Given the description of an element on the screen output the (x, y) to click on. 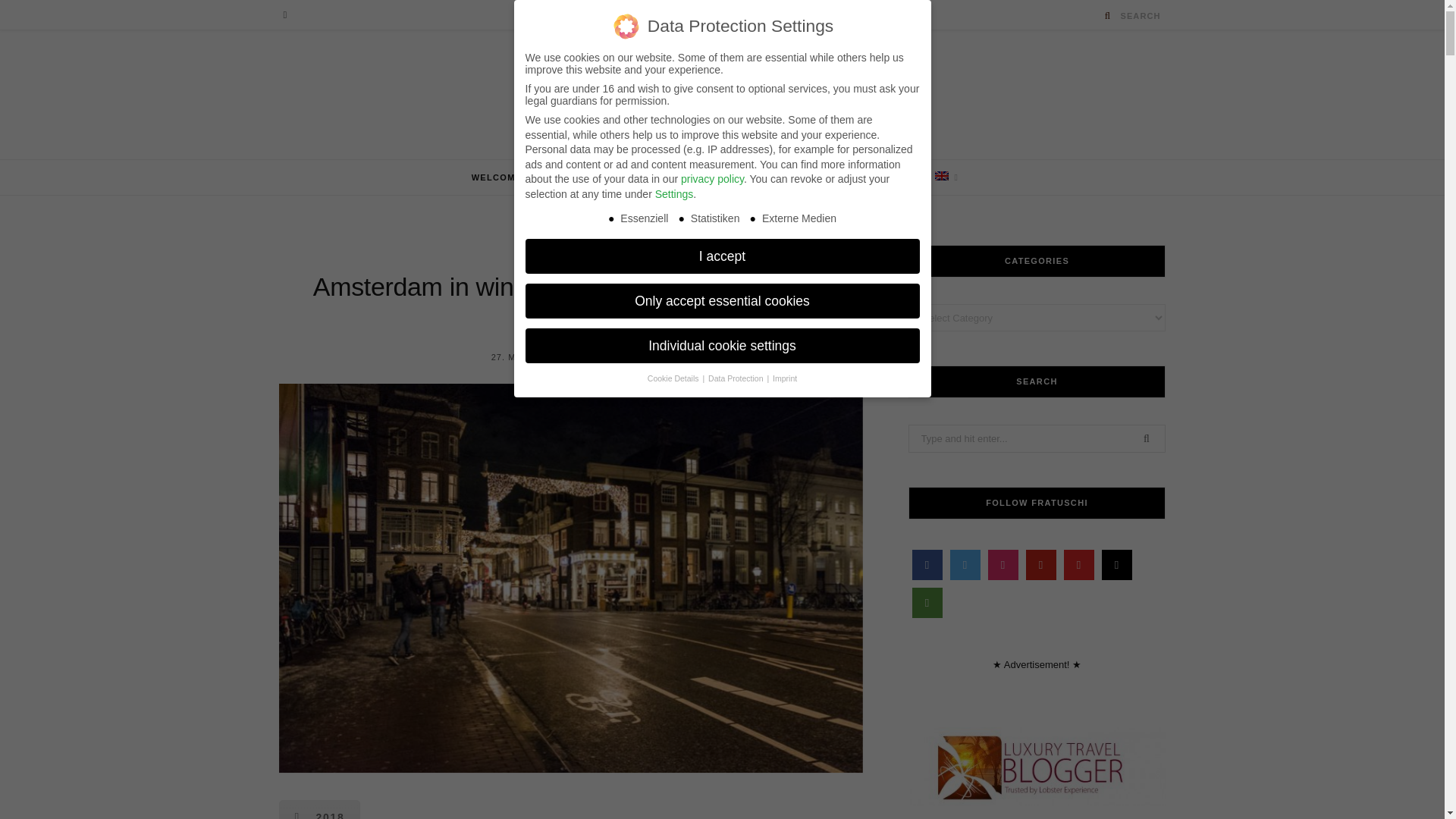
English (941, 175)
WELCOME (502, 176)
TRAVEL (583, 176)
6 COMMENTS (617, 356)
Search for: (1037, 438)
DESTINATIONS (677, 176)
SPECIALS (780, 176)
27. MARCH 2018 (531, 356)
FRATUSCHI (721, 102)
2018 (320, 809)
NETHERLANDS (570, 250)
